Given the description of an element on the screen output the (x, y) to click on. 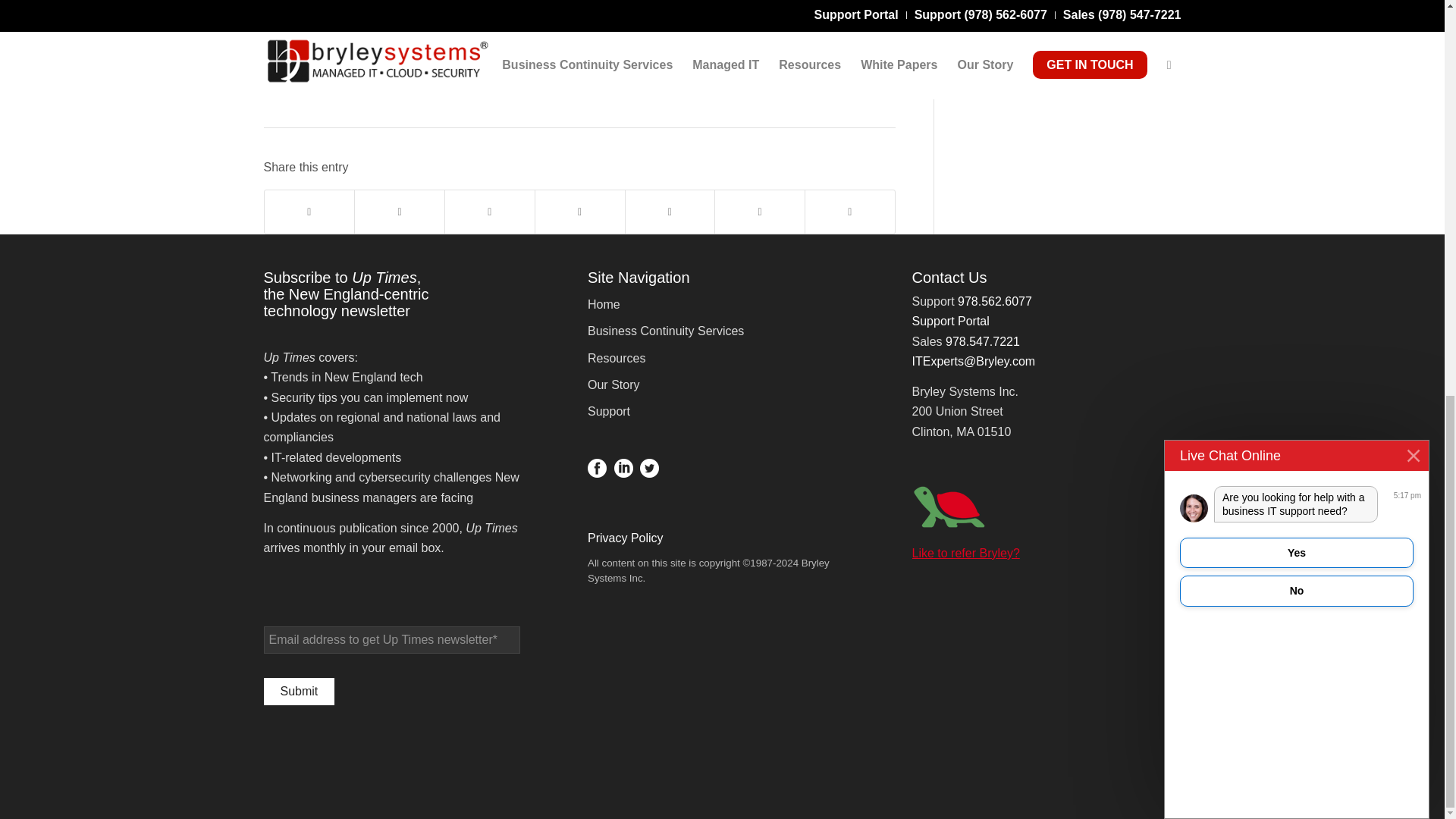
Submit (298, 691)
